Given the description of an element on the screen output the (x, y) to click on. 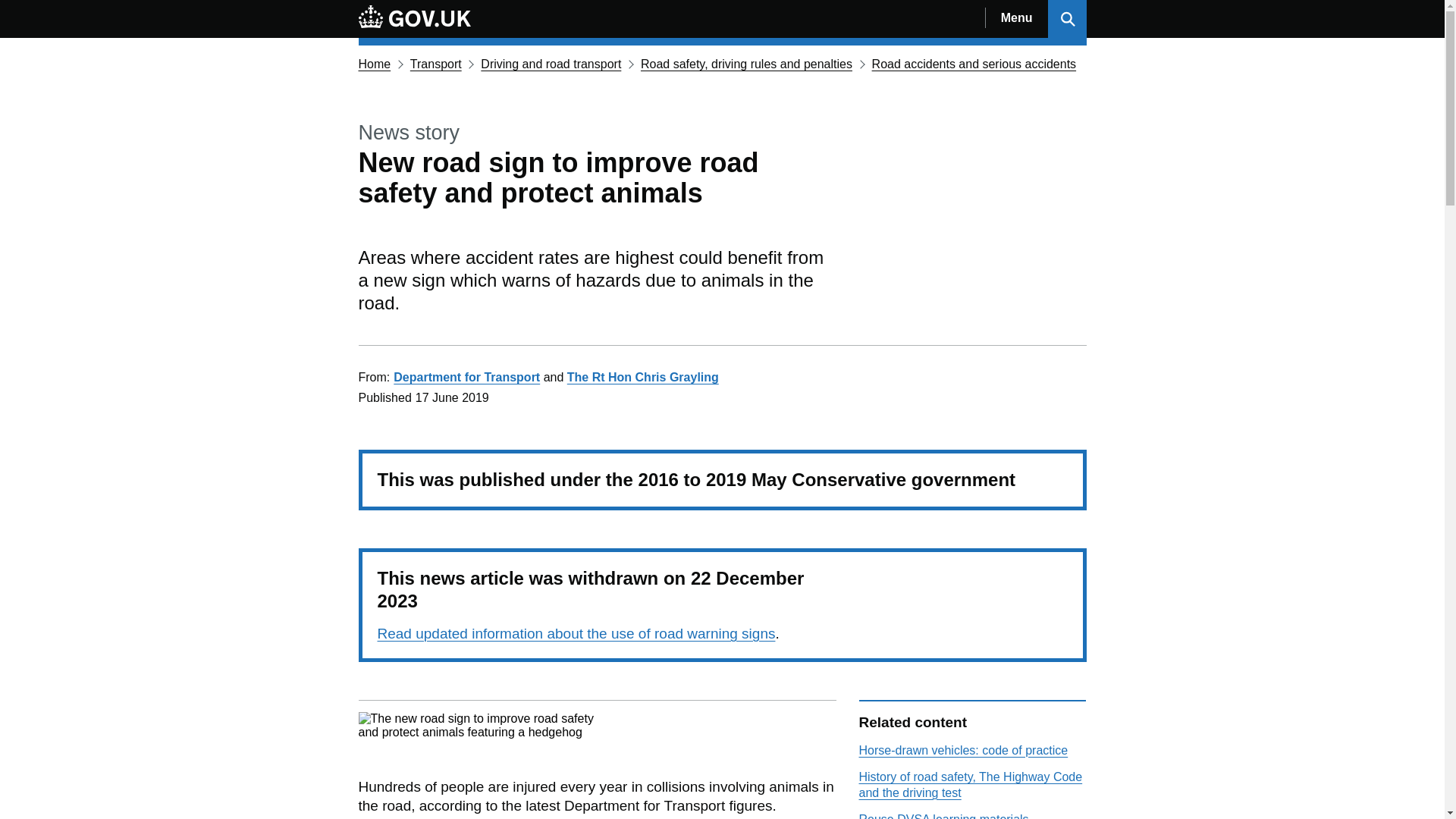
Reuse DVSA learning materials (943, 816)
Skip to main content (11, 7)
Read updated information about the use of road warning signs (576, 633)
GOV.UK (414, 15)
Road accidents and serious accidents (974, 63)
Search GOV.UK (1067, 18)
Department for Transport (466, 377)
Home (374, 63)
Transport (435, 63)
Menu (1016, 18)
The Rt Hon Chris Grayling (643, 377)
Road safety, driving rules and penalties (745, 63)
GOV.UK (414, 18)
Horse-drawn vehicles: code of practice (963, 749)
